Given the description of an element on the screen output the (x, y) to click on. 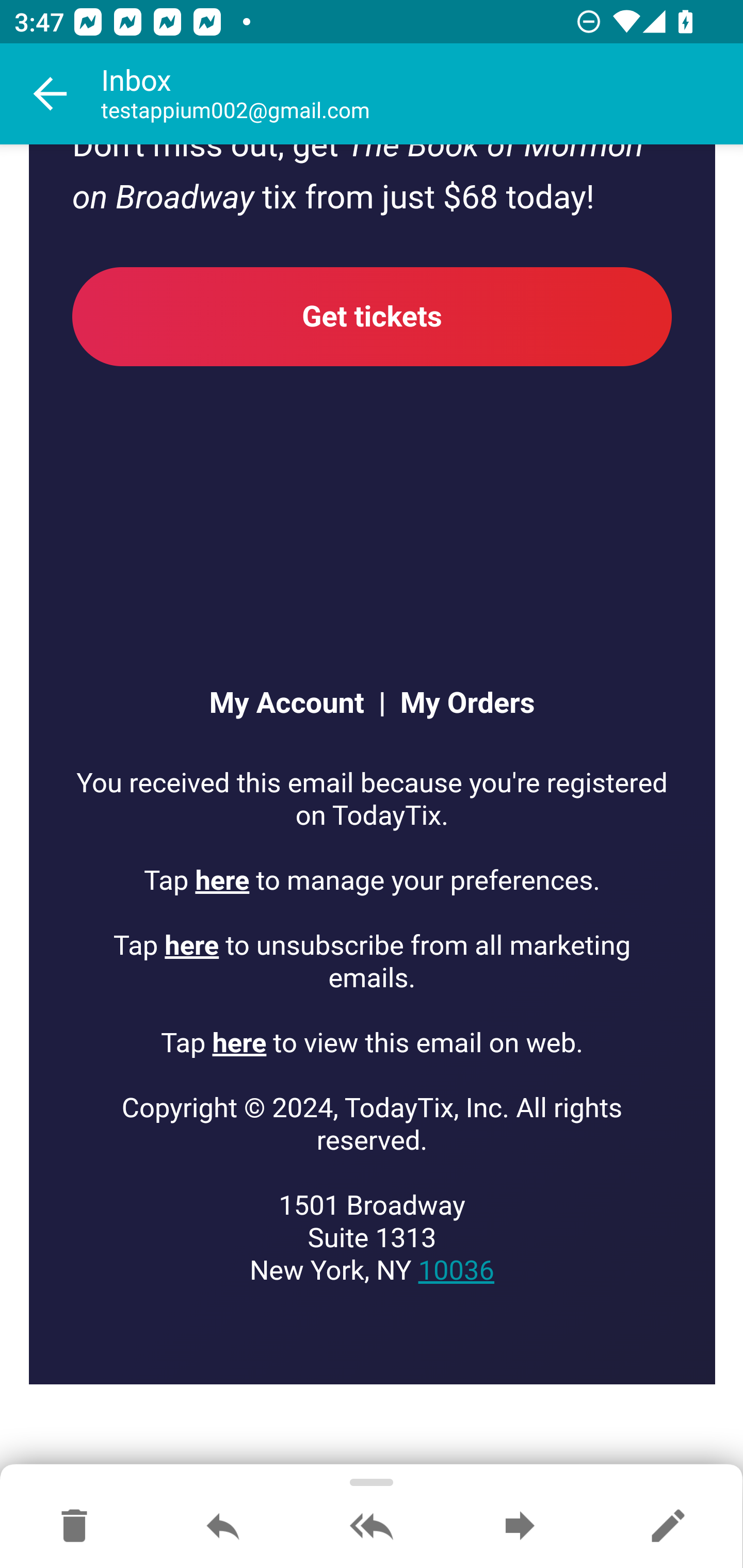
Navigate up (50, 93)
Inbox testappium002@gmail.com (422, 93)
Get tickets (372, 317)
My Account  | (296, 704)
  My Orders (460, 704)
here (222, 880)
here (192, 946)
here (239, 1044)
10036 (455, 1271)
Move to Deleted (74, 1527)
Reply (222, 1527)
Reply all (371, 1527)
Forward (519, 1527)
Reply as new (667, 1527)
